Given the description of an element on the screen output the (x, y) to click on. 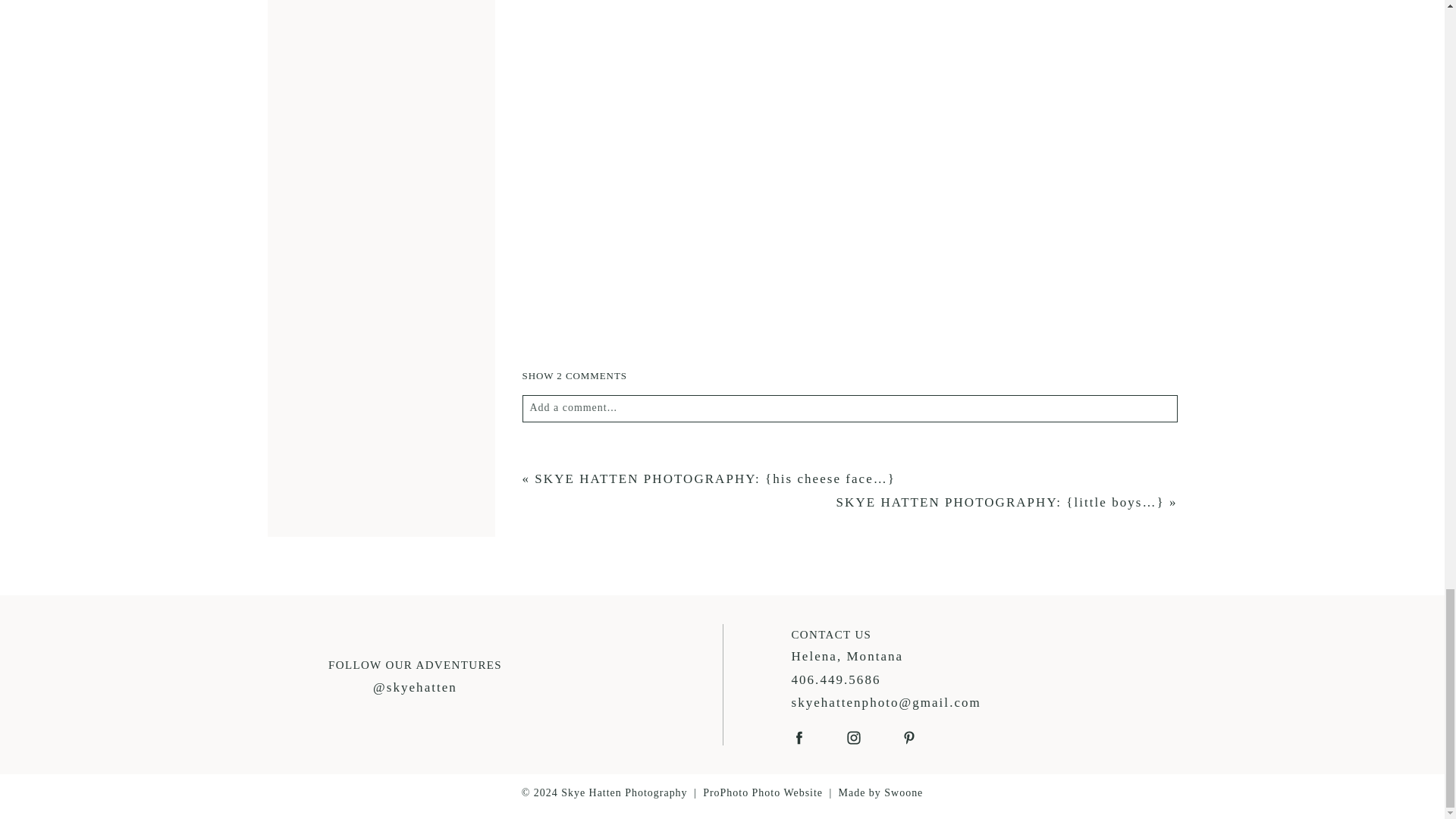
ProPhoto Photography Template (762, 792)
